Given the description of an element on the screen output the (x, y) to click on. 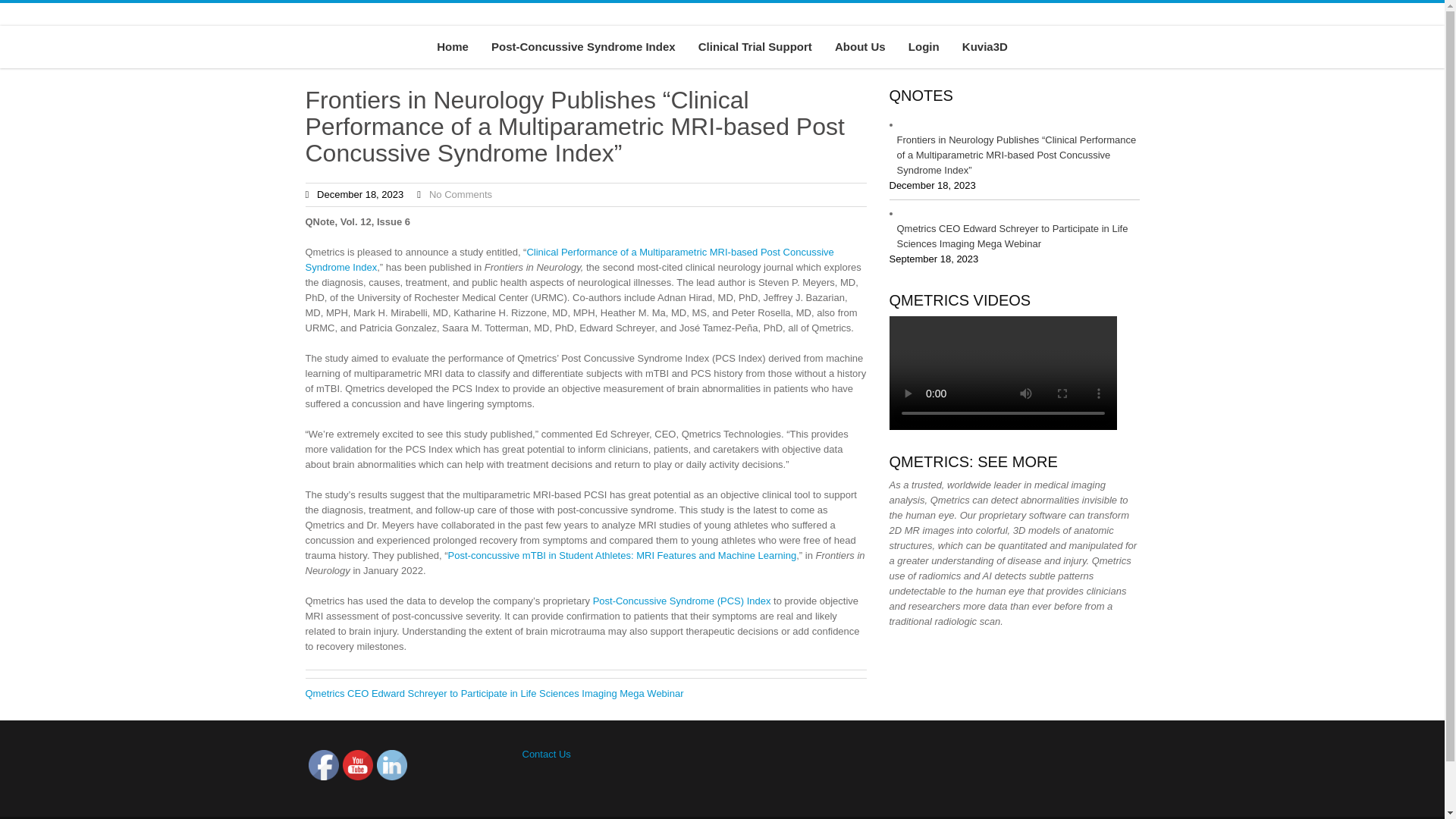
No Comments (460, 194)
Clinical Trial Support (755, 46)
Login (923, 46)
About Us (860, 46)
YouTube (357, 765)
Post-Concussive Syndrome Index (583, 46)
Contact Us (545, 754)
LinkedIn (390, 765)
Kuvia3D (984, 46)
